Given the description of an element on the screen output the (x, y) to click on. 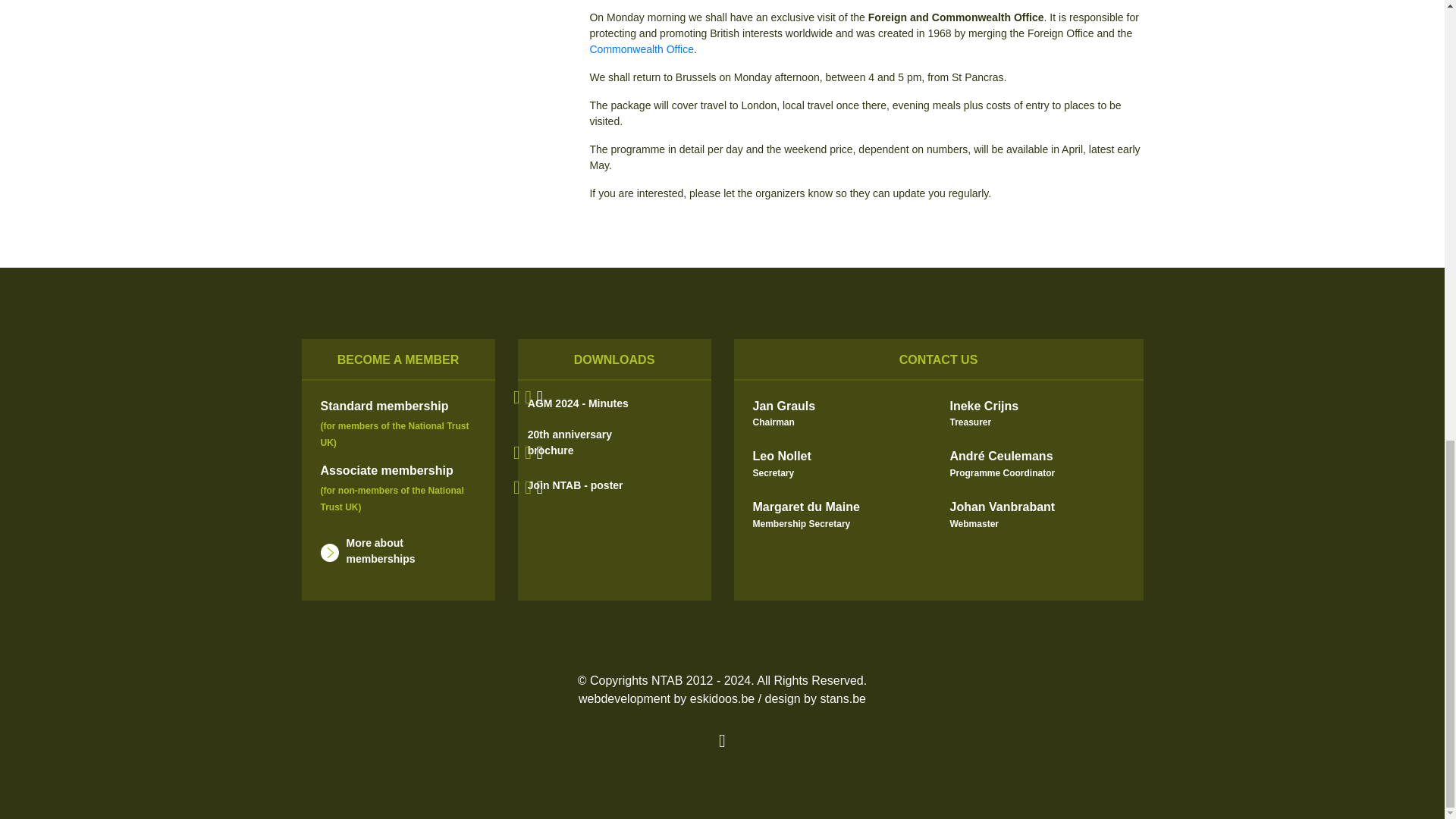
eskidoos.be (722, 698)
stans.be (841, 698)
20th anniversary brochure (615, 442)
Join NTAB - poster (615, 483)
AGM 2024 - Minutes (615, 401)
More about memberships (394, 551)
Commonwealth Office (641, 49)
